Given the description of an element on the screen output the (x, y) to click on. 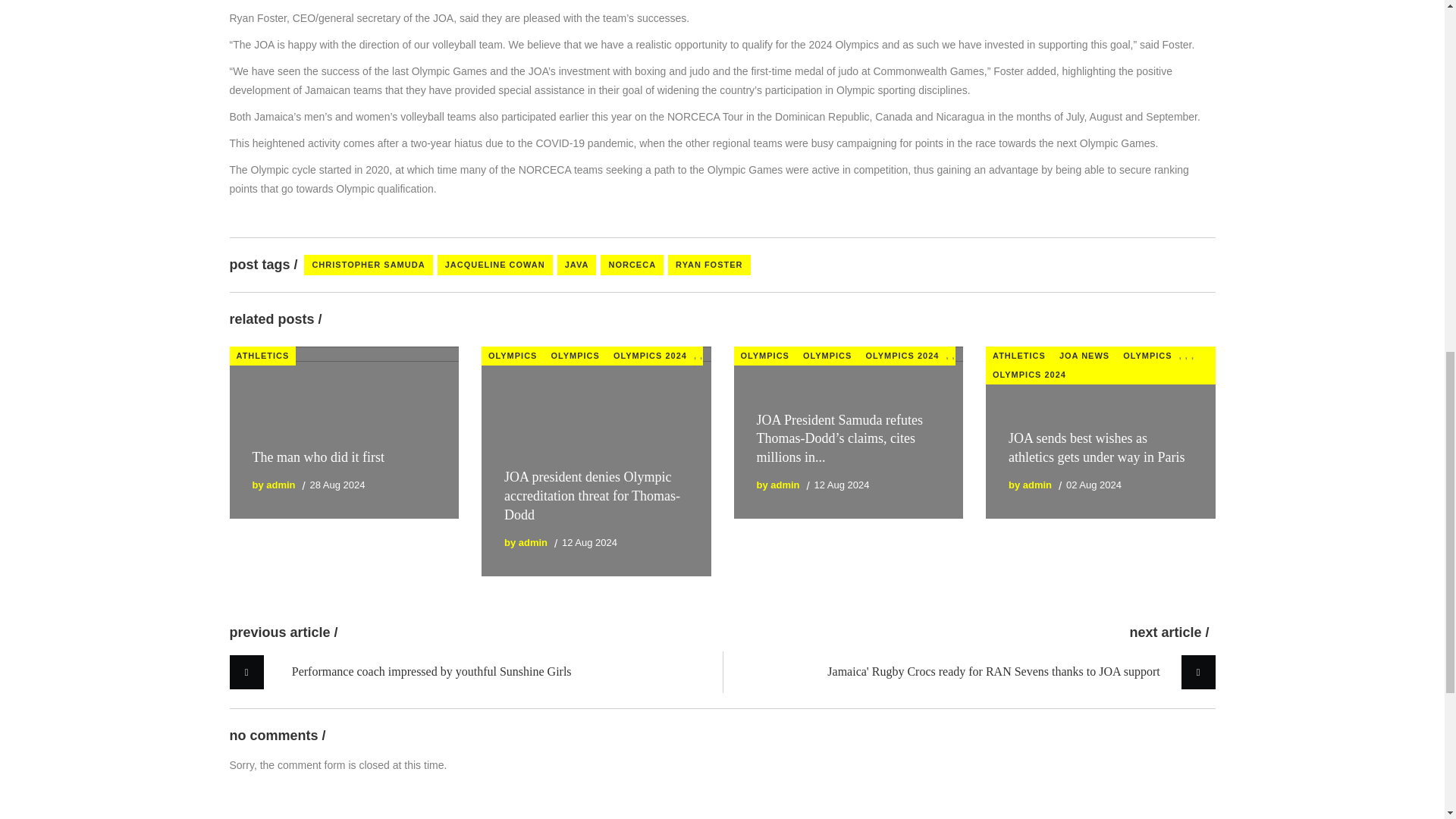
OLYMPICS (574, 355)
JACQUELINE COWAN (495, 264)
The man who did it first (317, 457)
by admin (273, 484)
CHRISTOPHER SAMUDA (368, 264)
OLYMPICS (764, 355)
12 Aug 2024 (589, 542)
JAVA (576, 264)
28 Aug 2024 (336, 484)
NORCECA (631, 264)
